Given the description of an element on the screen output the (x, y) to click on. 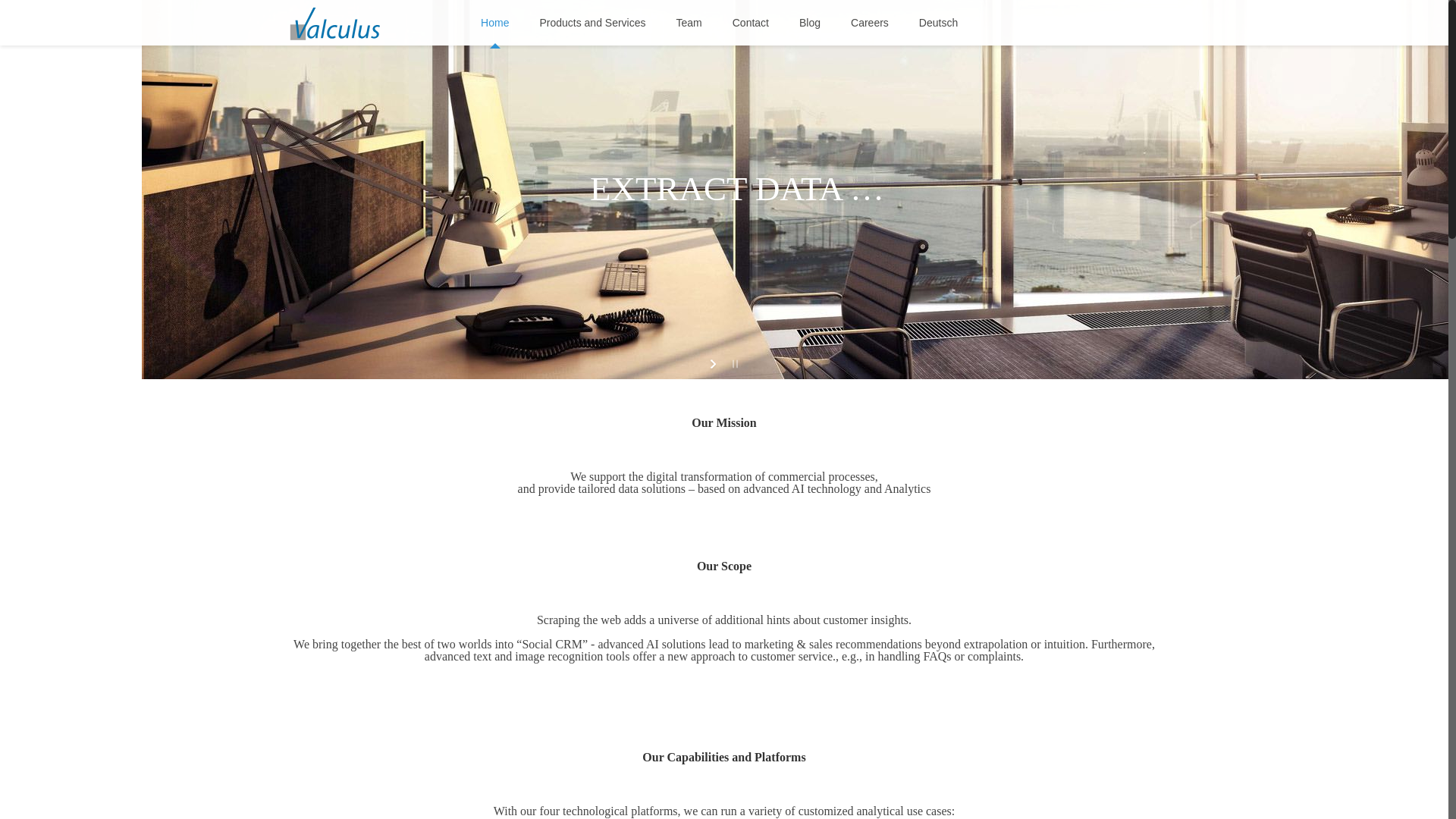
Deutsch (938, 22)
Home (494, 22)
Contact (750, 22)
Team (689, 22)
Careers (869, 22)
Blog (809, 22)
valculus.com (334, 22)
Products and Services (592, 22)
